Given the description of an element on the screen output the (x, y) to click on. 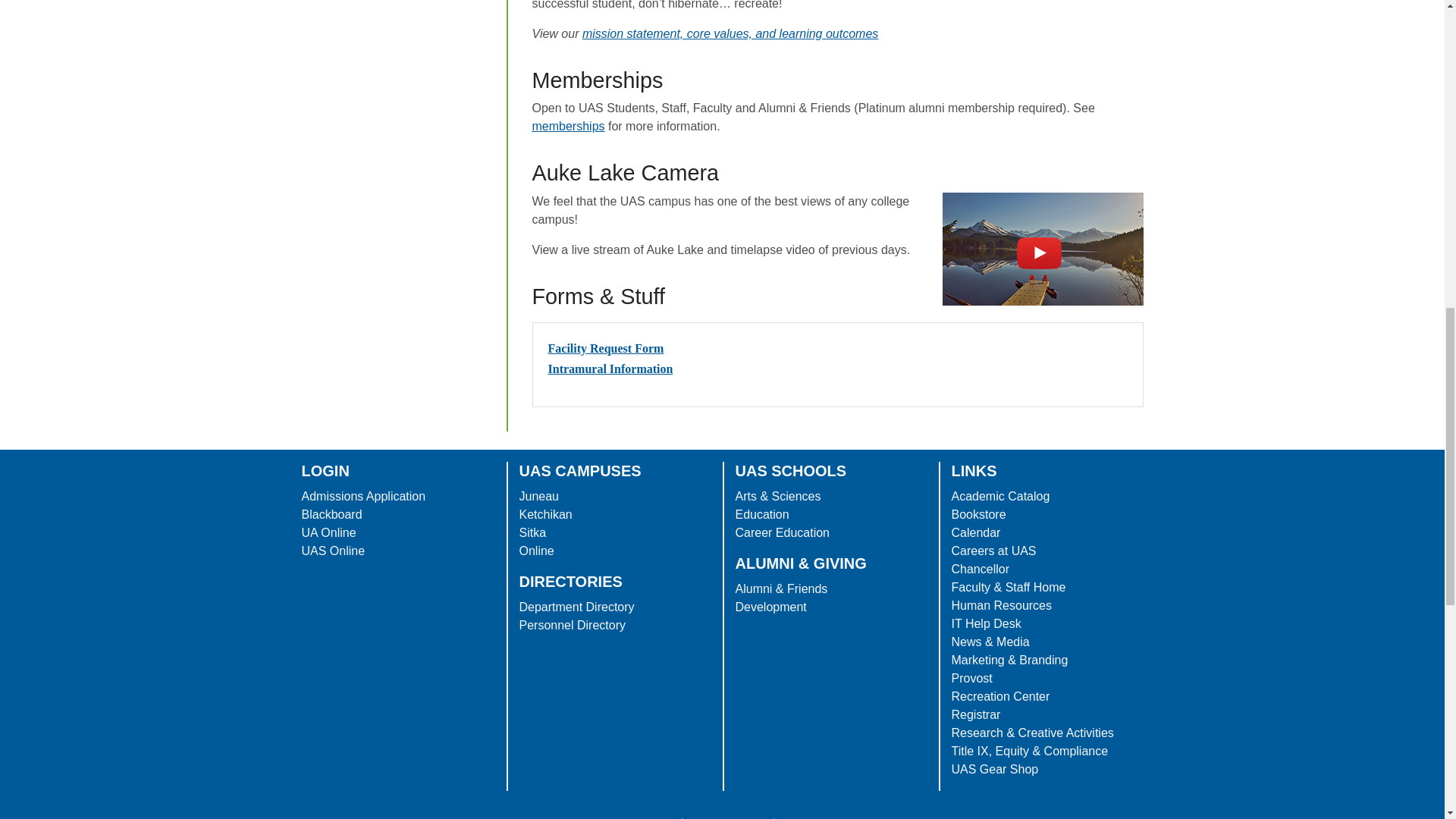
Academic Catalog (999, 495)
Intramural Information (609, 368)
Careers at UAS (992, 550)
Development (770, 606)
Online (535, 550)
Sitka (532, 532)
Department Directory (575, 606)
Facility Request Form (605, 348)
memberships (568, 125)
Blackboard (331, 513)
Juneau (538, 495)
Career Education (782, 532)
Ketchikan (545, 513)
Personnel Directory (572, 625)
Education (762, 513)
